Given the description of an element on the screen output the (x, y) to click on. 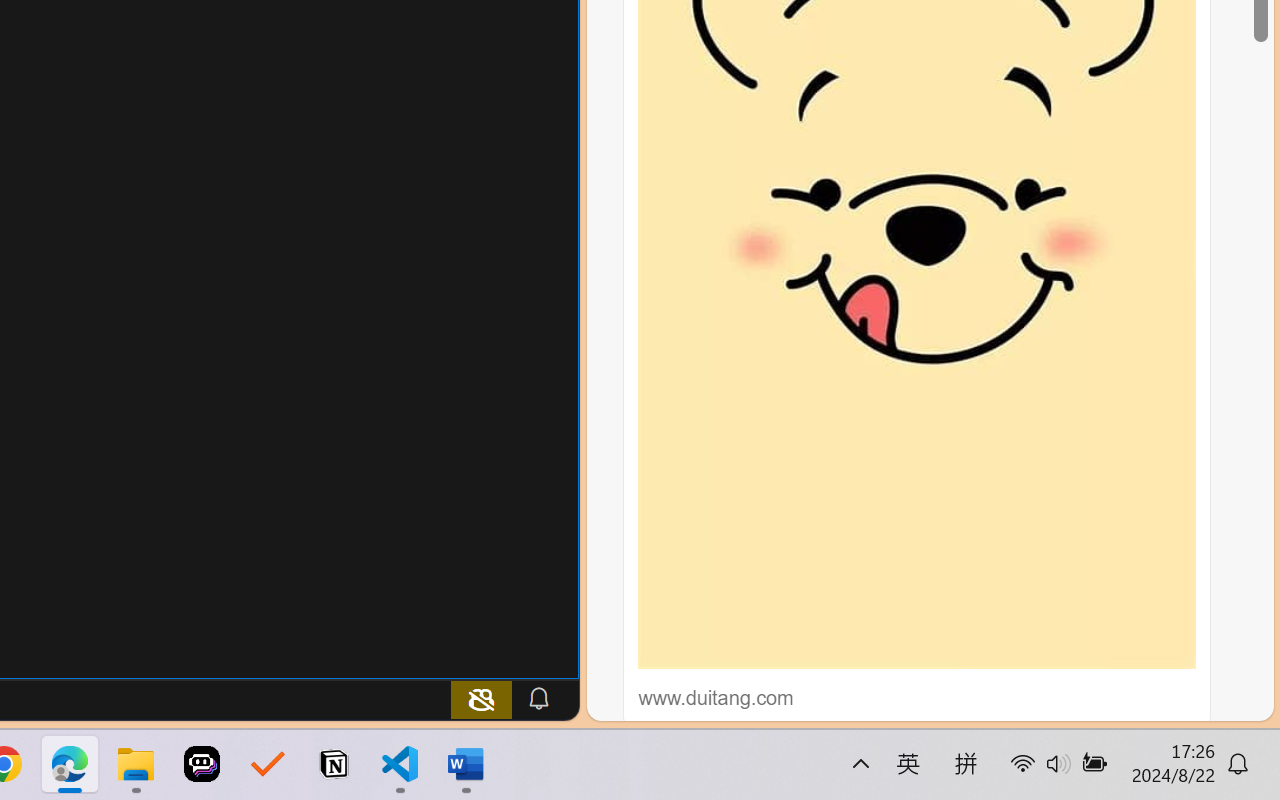
copilot-notconnected, Copilot error (click for details) (481, 698)
Notifications (537, 698)
